Given the description of an element on the screen output the (x, y) to click on. 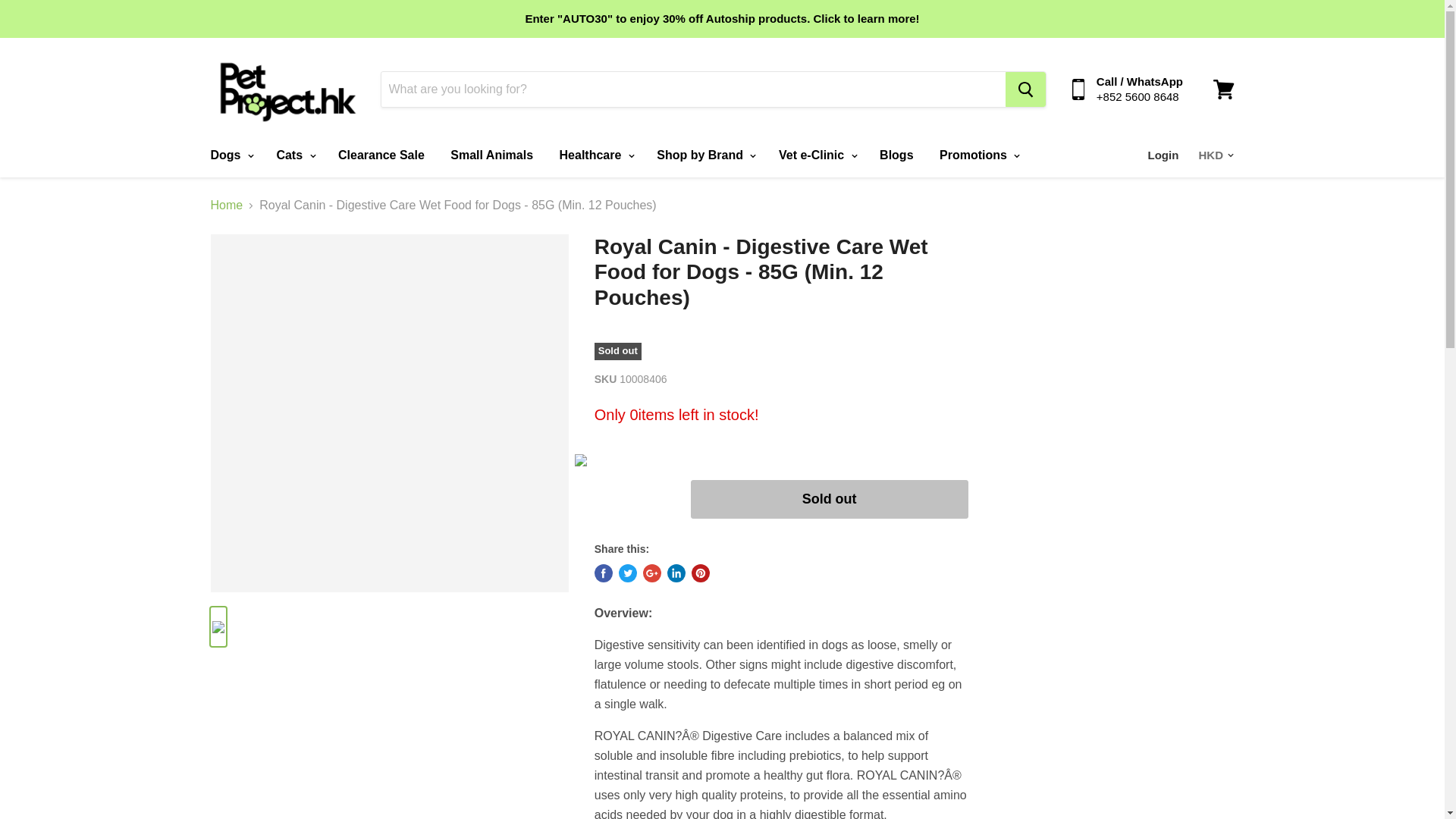
View cart (1223, 89)
Dogs (229, 155)
